Given the description of an element on the screen output the (x, y) to click on. 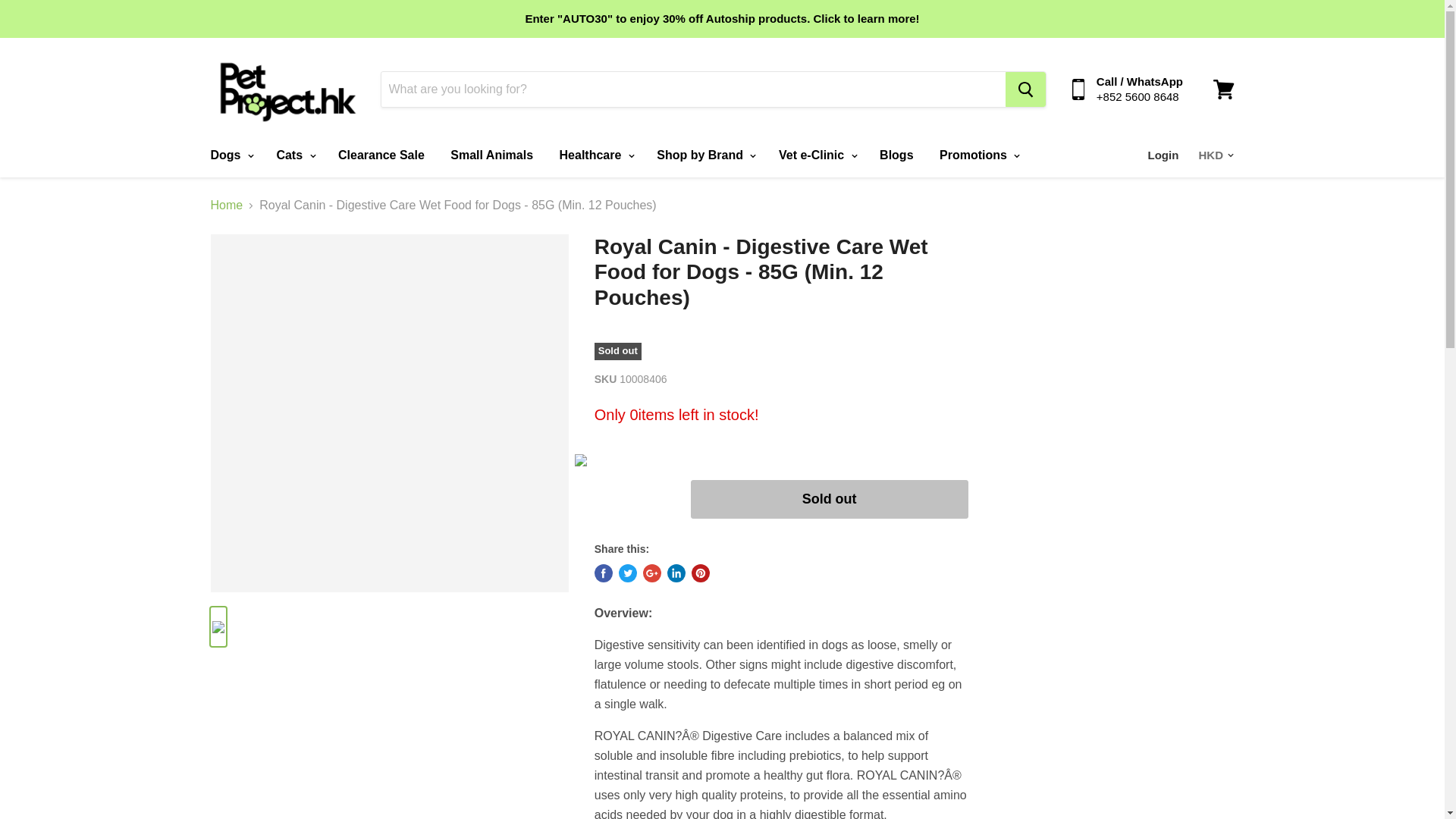
View cart (1223, 89)
Dogs (229, 155)
